Given the description of an element on the screen output the (x, y) to click on. 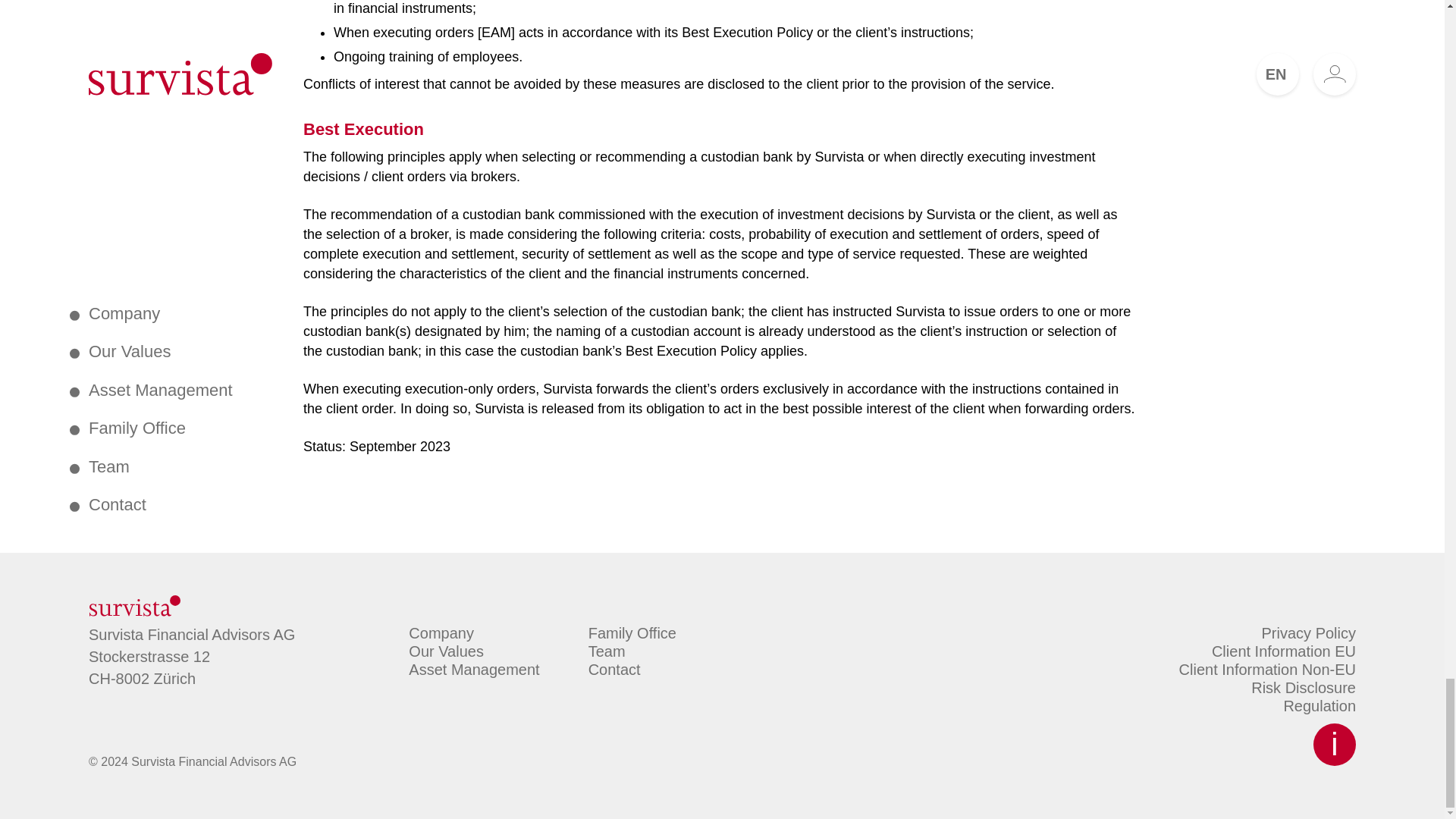
Risk Disclosure (1302, 687)
Team (607, 651)
Regulation (1318, 705)
Our Values (446, 651)
Contact (614, 669)
Asset Management (473, 669)
Family Office (632, 632)
Privacy Policy (1308, 632)
Client Information Non-EU (1267, 669)
Client Information EU (1283, 651)
